Given the description of an element on the screen output the (x, y) to click on. 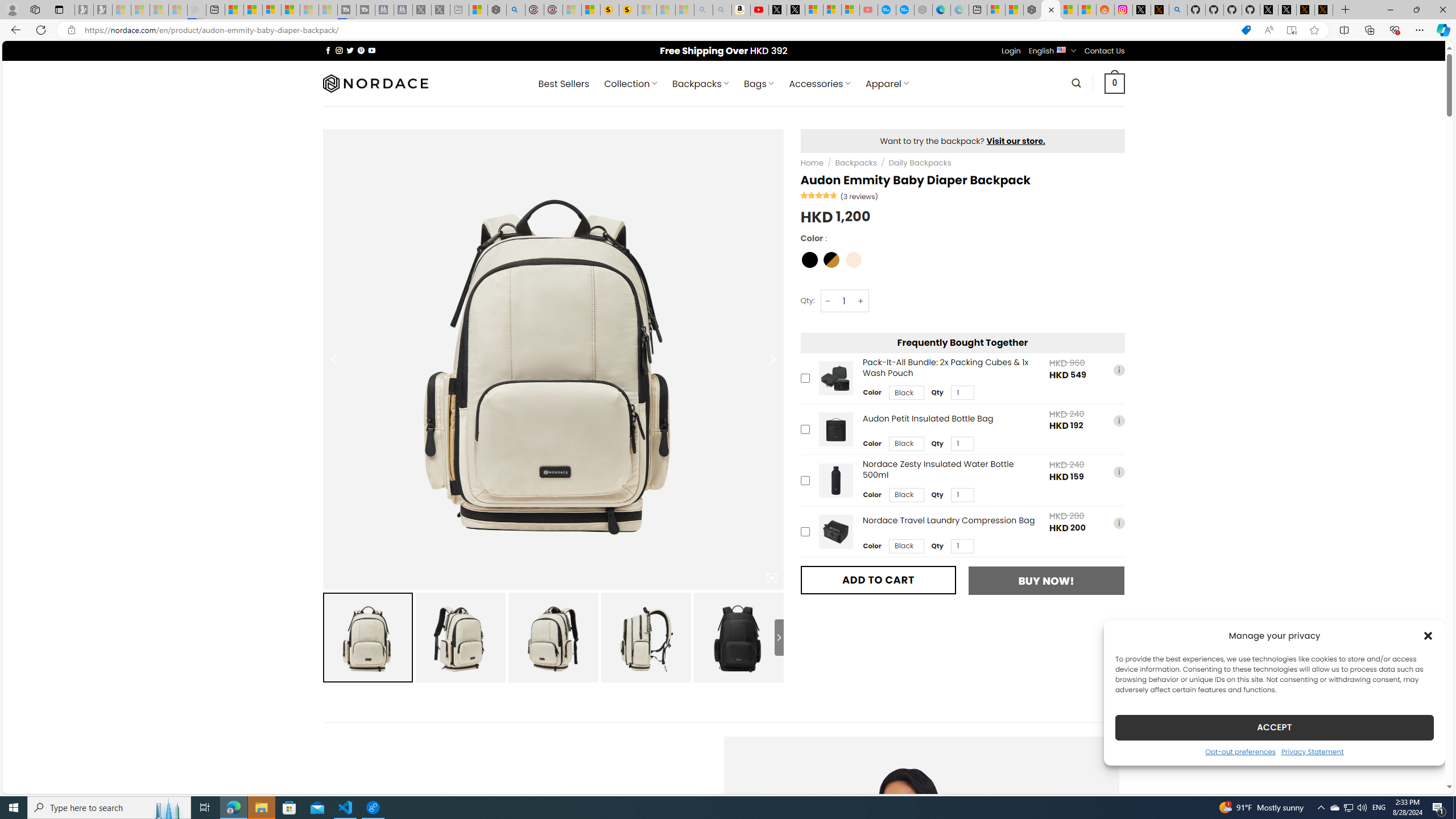
X Privacy Policy (1324, 9)
